Given the description of an element on the screen output the (x, y) to click on. 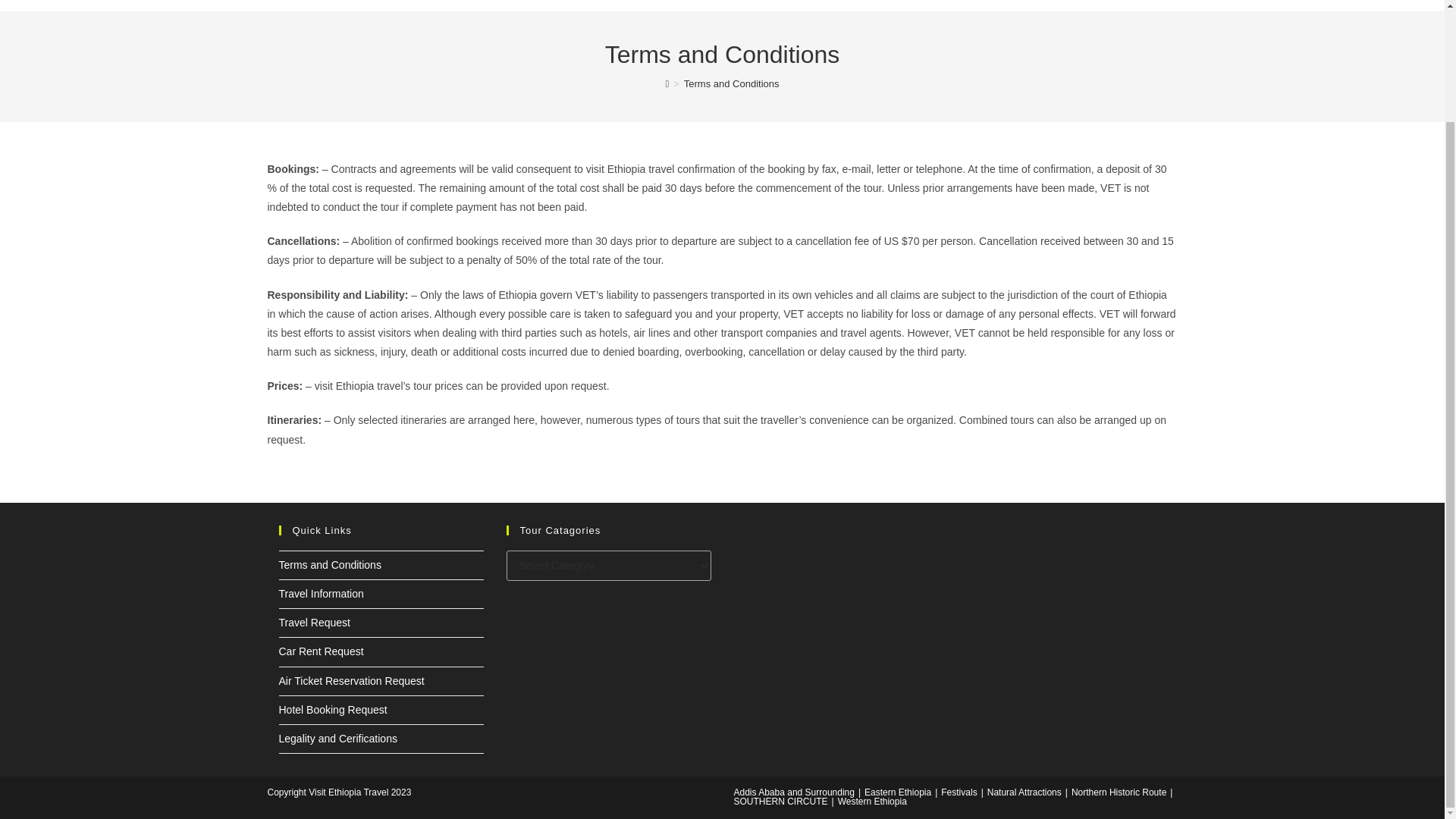
ETHIOPIA (763, 3)
ABOUT US (675, 3)
TOUR PACKAGES (1013, 3)
HOME (601, 3)
SPECIALIZED TOURS (877, 3)
